Given the description of an element on the screen output the (x, y) to click on. 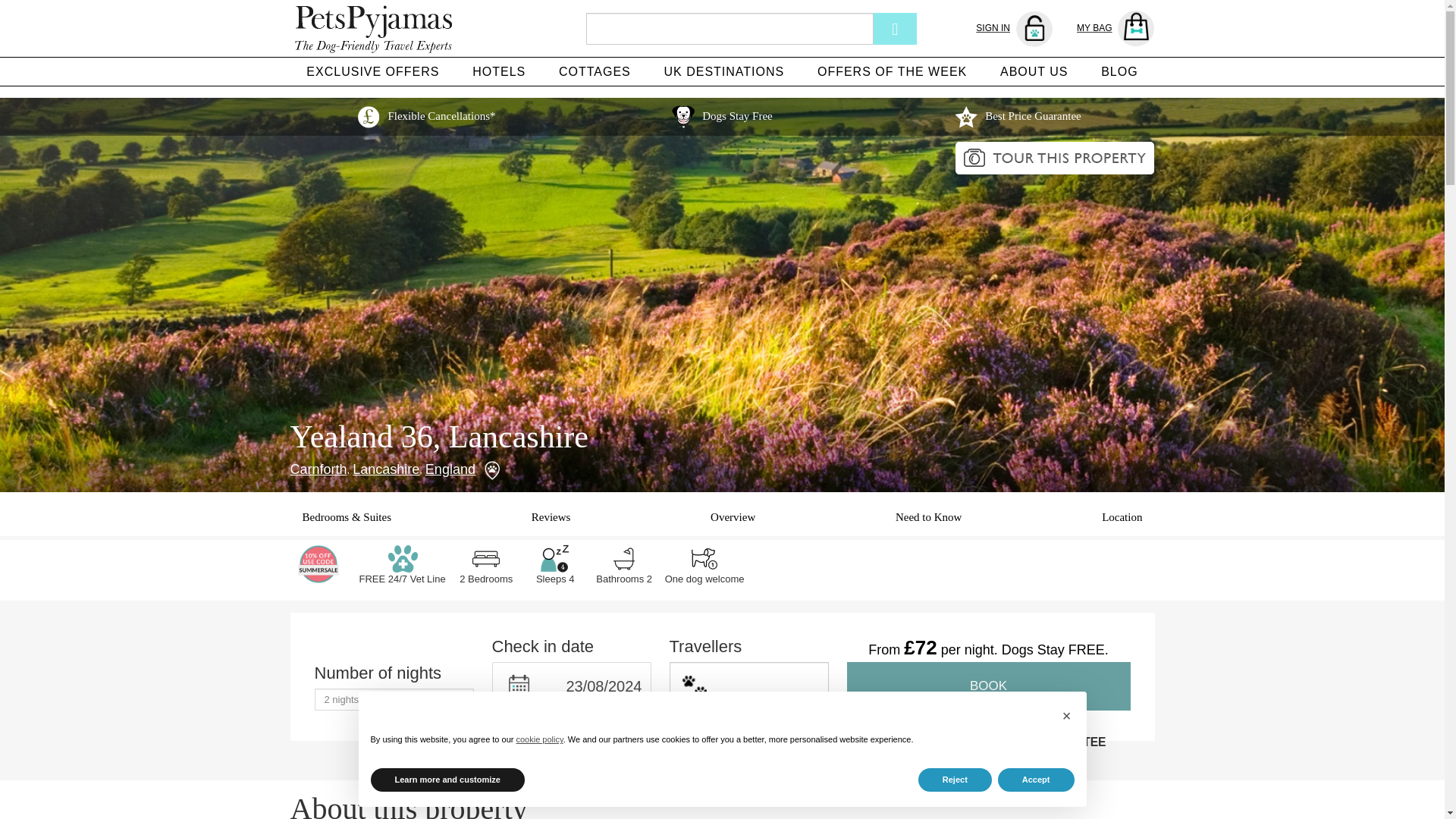
MY BAG (1115, 28)
HOTELS (498, 71)
EXCLUSIVE OFFERS (372, 71)
SIGN IN (1013, 28)
